Given the description of an element on the screen output the (x, y) to click on. 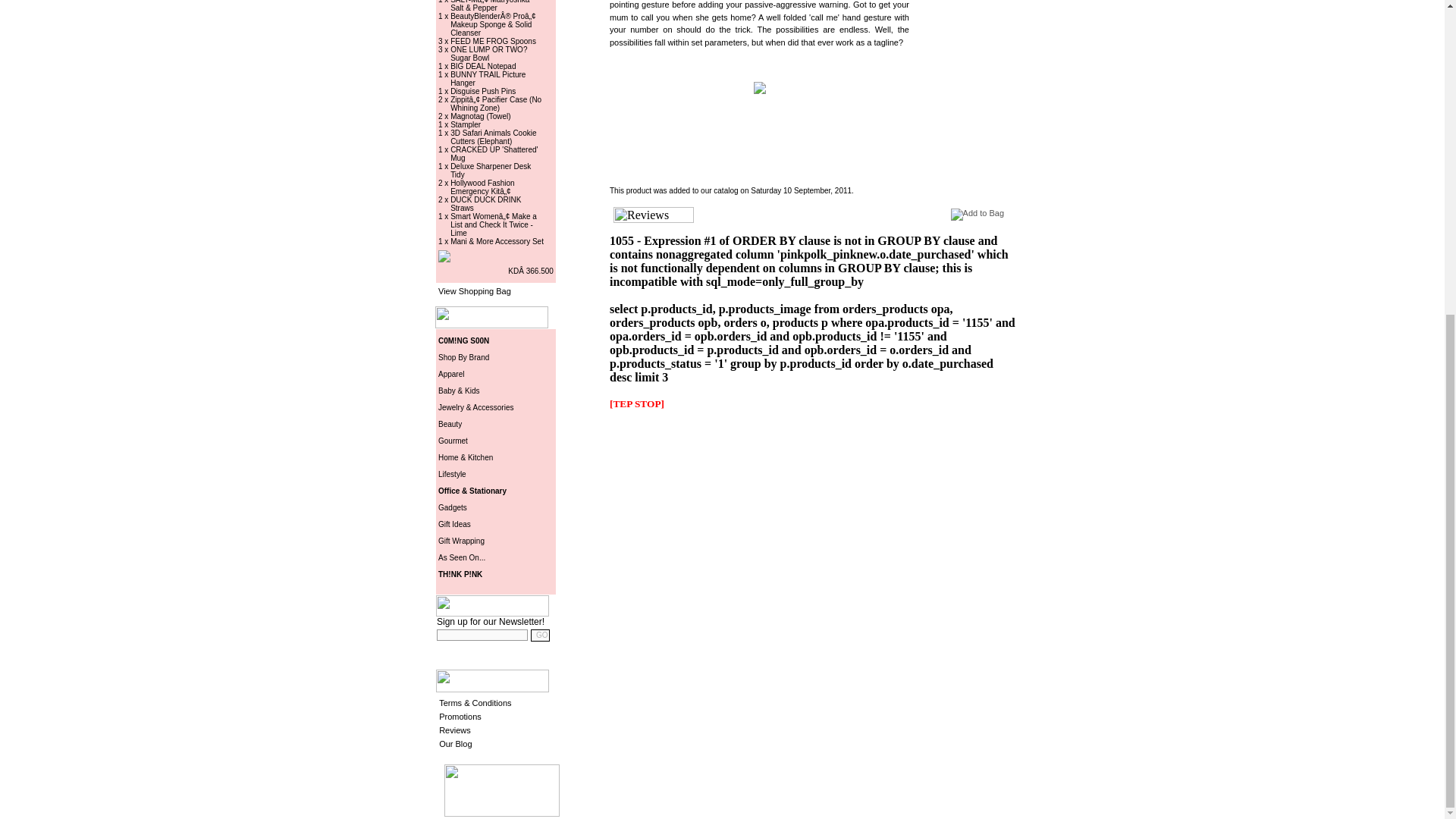
 Add to Bag  (977, 214)
Shop By Brand (463, 356)
Reviews (653, 214)
Disguise Push Pins (482, 89)
DUCK DUCK DRINK Straws (485, 201)
BIG DEAL Notepad (482, 64)
C0M!NG S00N (463, 340)
View Shopping Bag (474, 290)
FEED ME FROG Spoons (492, 39)
Deluxe Sharpener Desk Tidy (490, 168)
